Given the description of an element on the screen output the (x, y) to click on. 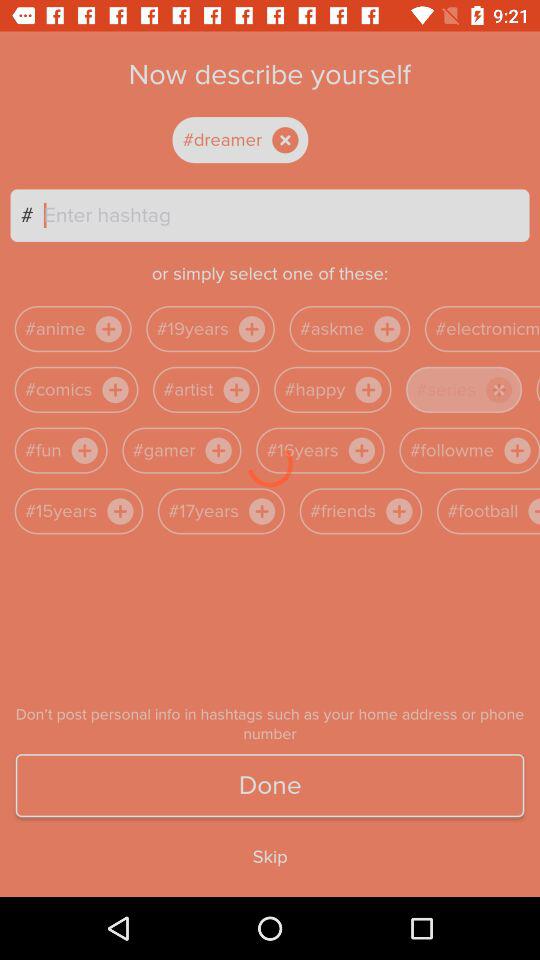
dreamer ash tag (257, 140)
